Given the description of an element on the screen output the (x, y) to click on. 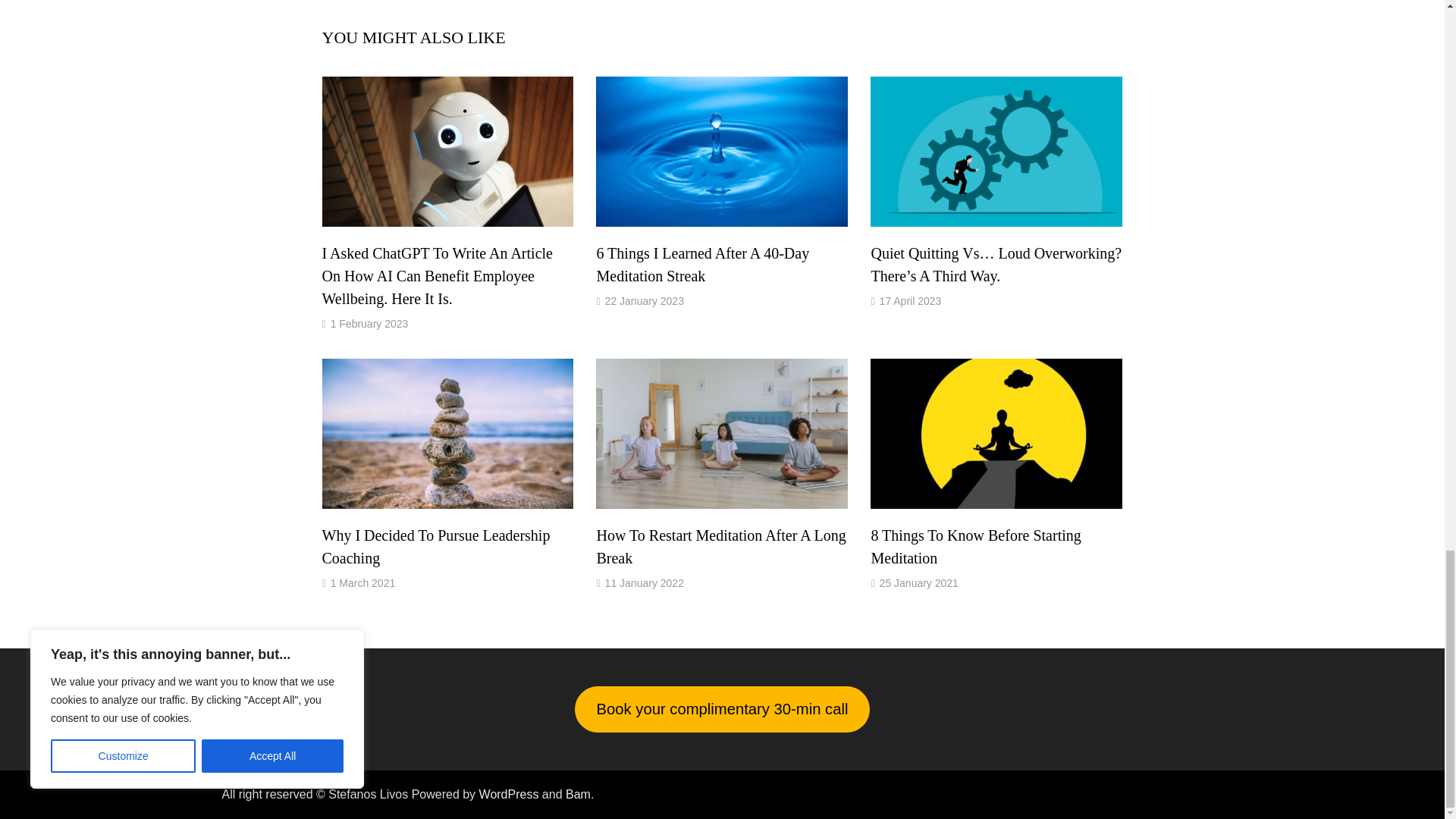
How to restart meditation after a long break (720, 546)
Why I decided to pursue Leadership Coaching (435, 546)
8 things to know before starting meditation (975, 546)
6 things I learned after a 40-day meditation streak (702, 264)
